Given the description of an element on the screen output the (x, y) to click on. 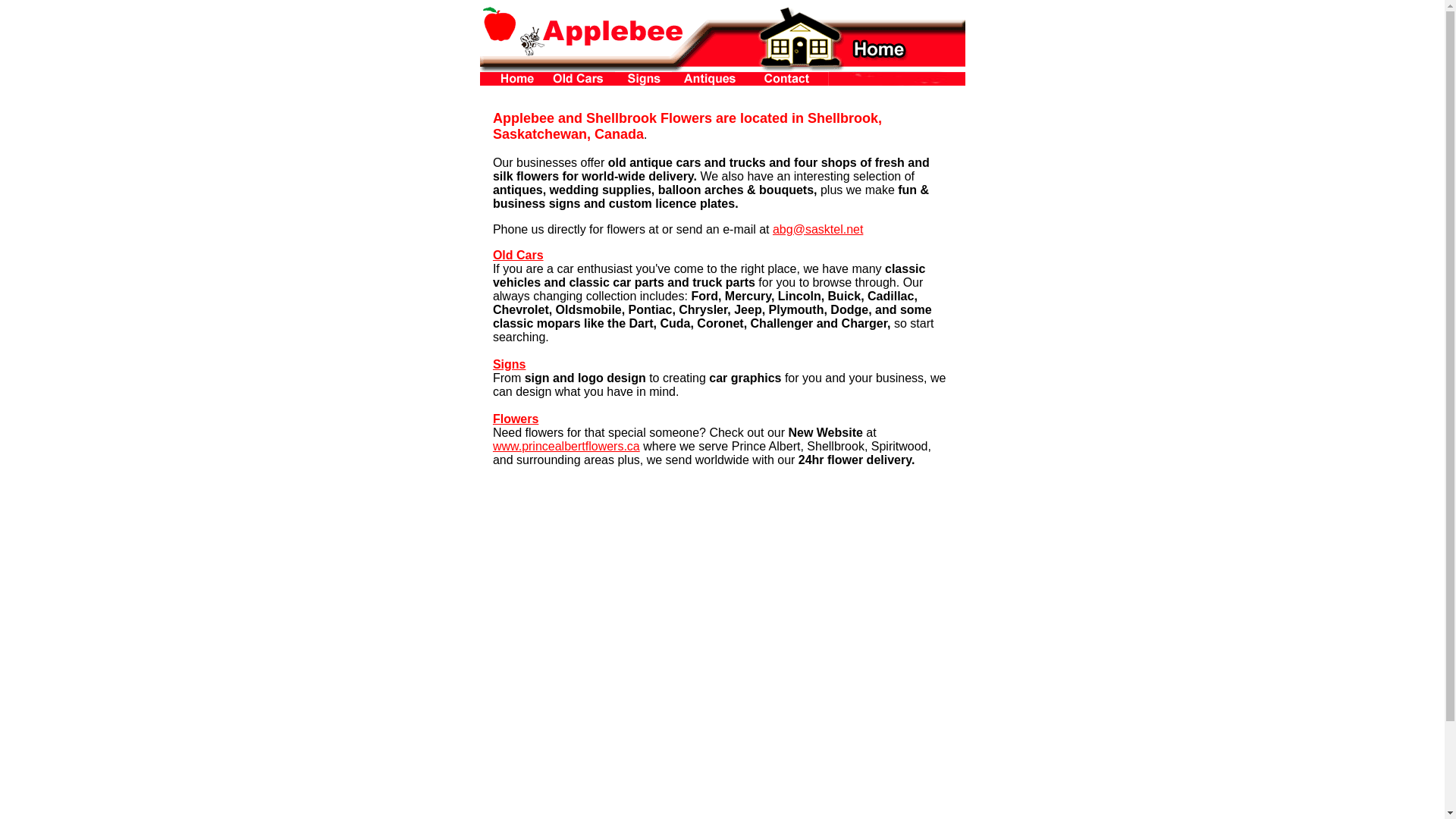
Flowers Element type: text (515, 418)
Signs Element type: text (509, 363)
Old Cars Element type: text (517, 254)
www.princealbertflowers.ca Element type: text (566, 445)
abg@sasktel.net Element type: text (817, 228)
